Given the description of an element on the screen output the (x, y) to click on. 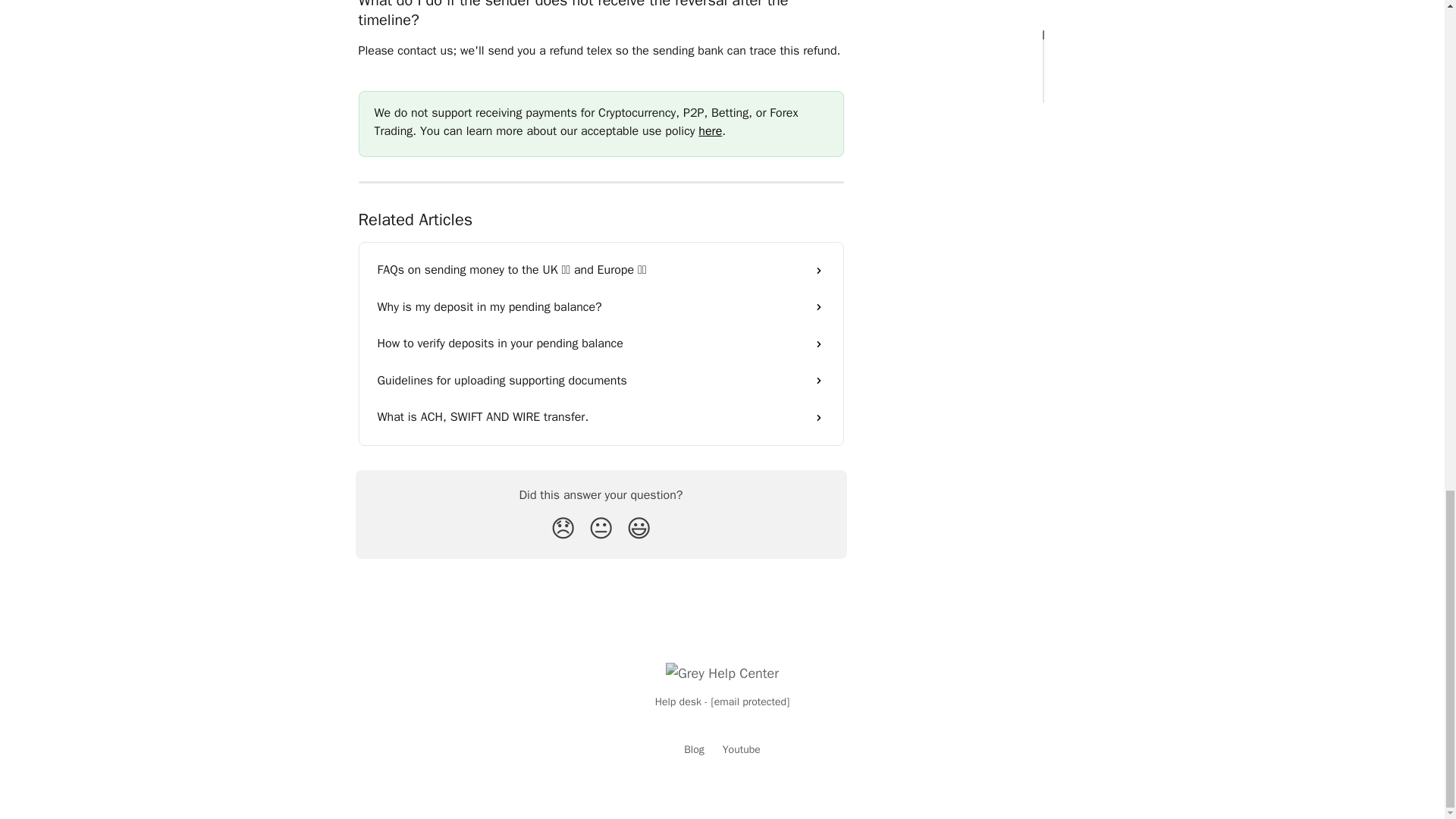
Blog (694, 748)
How to verify deposits in your pending balance (601, 343)
Youtube (741, 748)
here (710, 130)
What is ACH, SWIFT AND WIRE transfer. (601, 416)
Guidelines for uploading supporting documents (601, 380)
Why is my deposit in my pending balance? (601, 307)
